Given the description of an element on the screen output the (x, y) to click on. 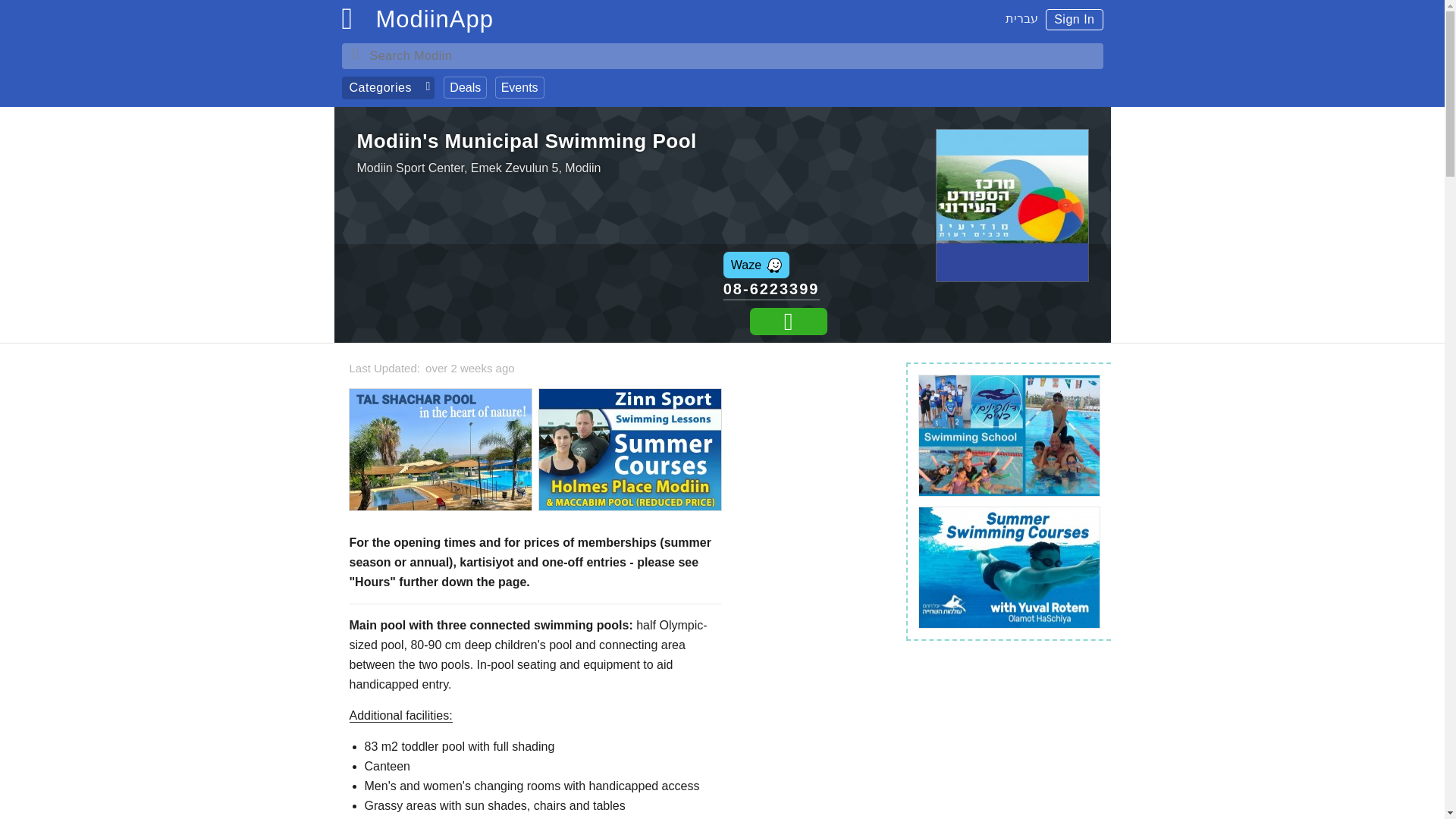
Sign In (1073, 19)
ModiinApp (434, 22)
Categories (386, 87)
Events (519, 87)
Deals (465, 87)
